Given the description of an element on the screen output the (x, y) to click on. 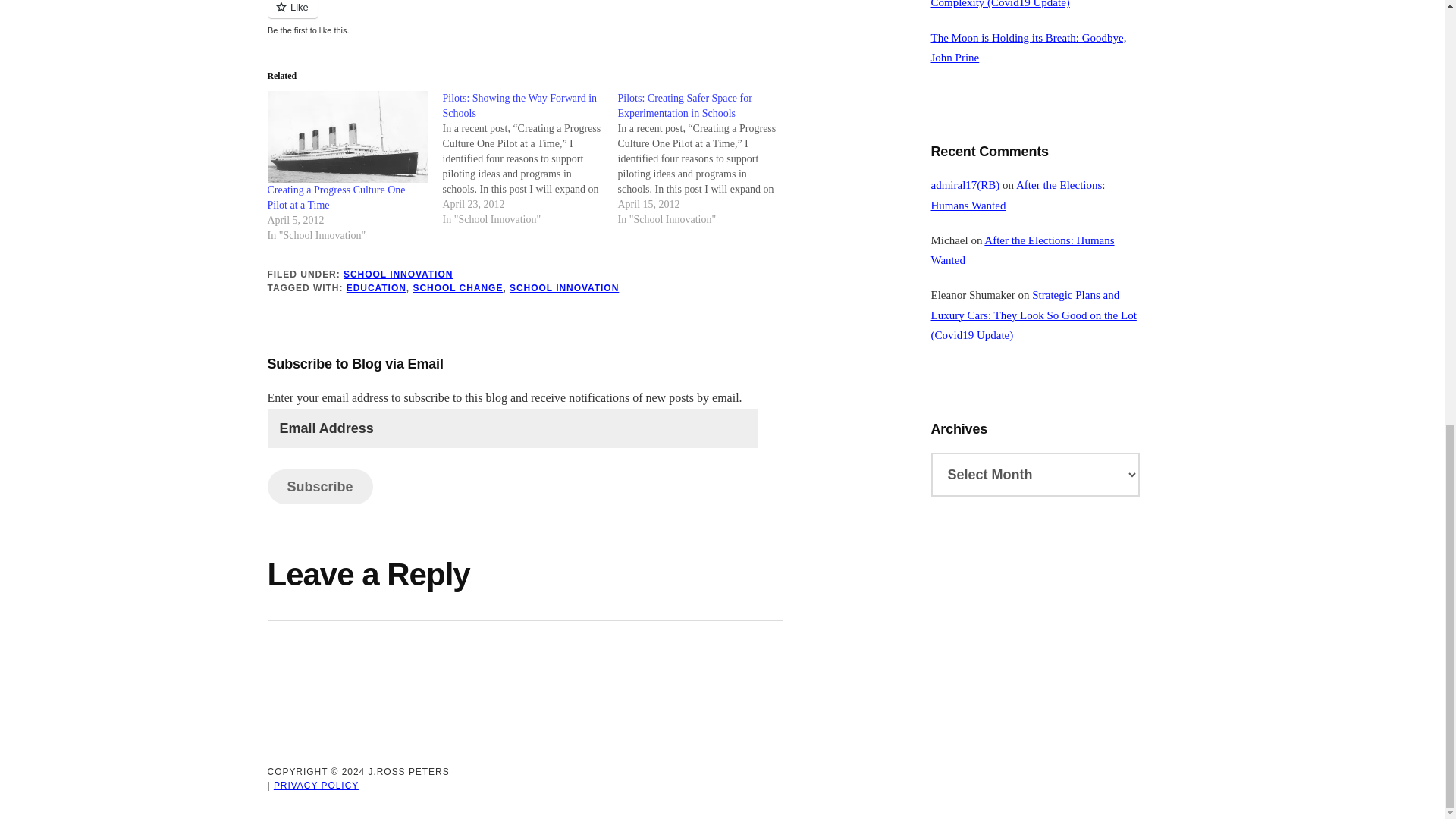
Creating a Progress Culture One Pilot at a Time (335, 197)
EDUCATION (376, 287)
Creating a Progress Culture One Pilot at a Time (335, 197)
Creating a Progress Culture One Pilot at a Time (346, 136)
SCHOOL INNOVATION (397, 274)
SCHOOL INNOVATION (563, 287)
Pilots: Showing the Way Forward in Schools (529, 158)
Like or Reblog (524, 18)
Pilots: Creating Safer Space for Experimentation in Schools (684, 105)
Pilots: Showing the Way Forward in Schools (519, 105)
Pilots: Creating Safer Space for Experimentation in Schools (704, 158)
SCHOOL CHANGE (457, 287)
Pilots: Creating Safer Space for Experimentation in Schools (684, 105)
Pilots: Showing the Way Forward in Schools (519, 105)
